Given the description of an element on the screen output the (x, y) to click on. 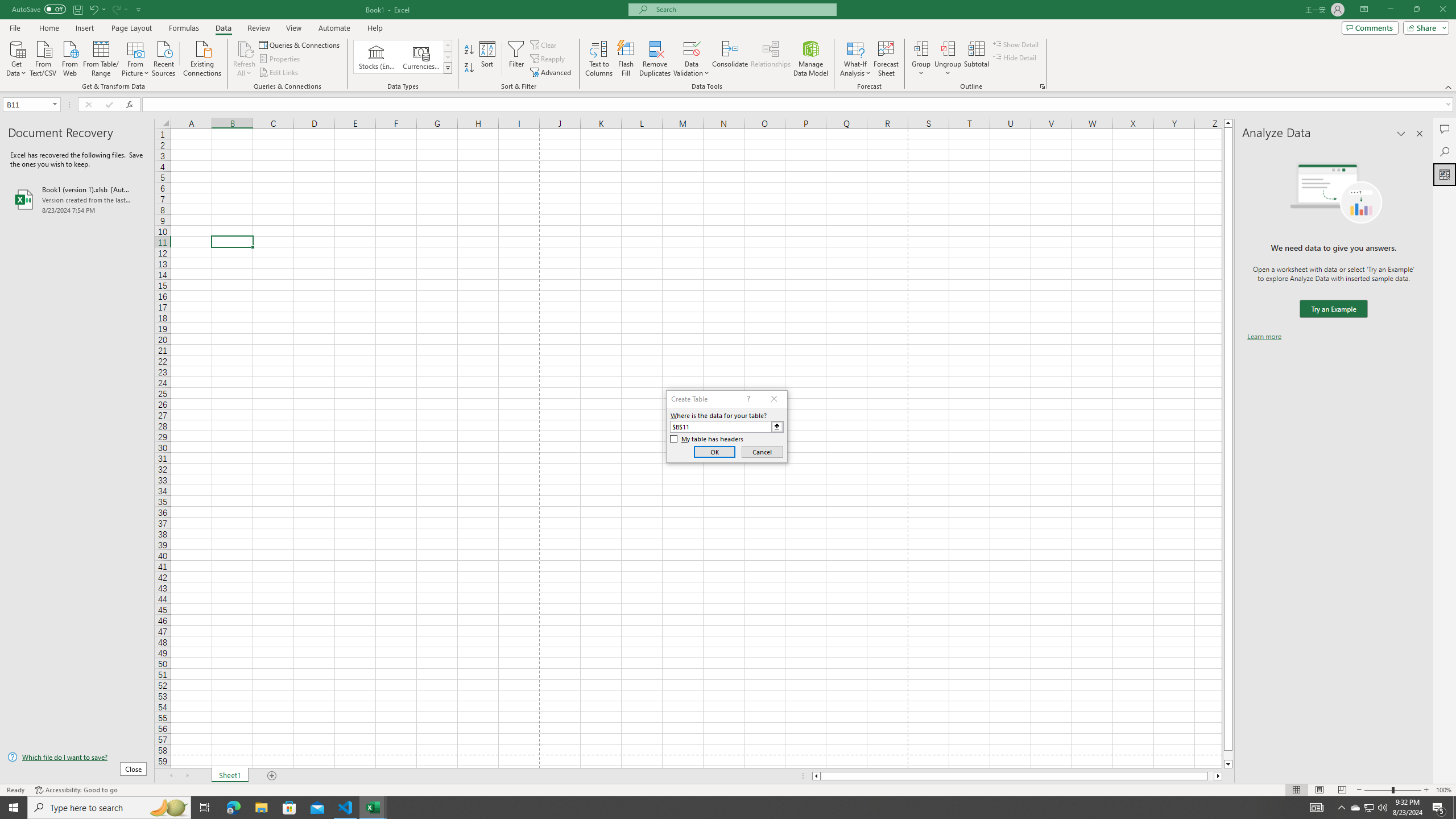
Existing Connections (202, 57)
Text to Columns... (598, 58)
Group... (921, 48)
Stocks (English) (375, 56)
Sort... (487, 58)
Row Down (448, 56)
Hide Detail (1014, 56)
Data Validation... (691, 48)
Learn more (1264, 336)
Flash Fill (625, 58)
